Given the description of an element on the screen output the (x, y) to click on. 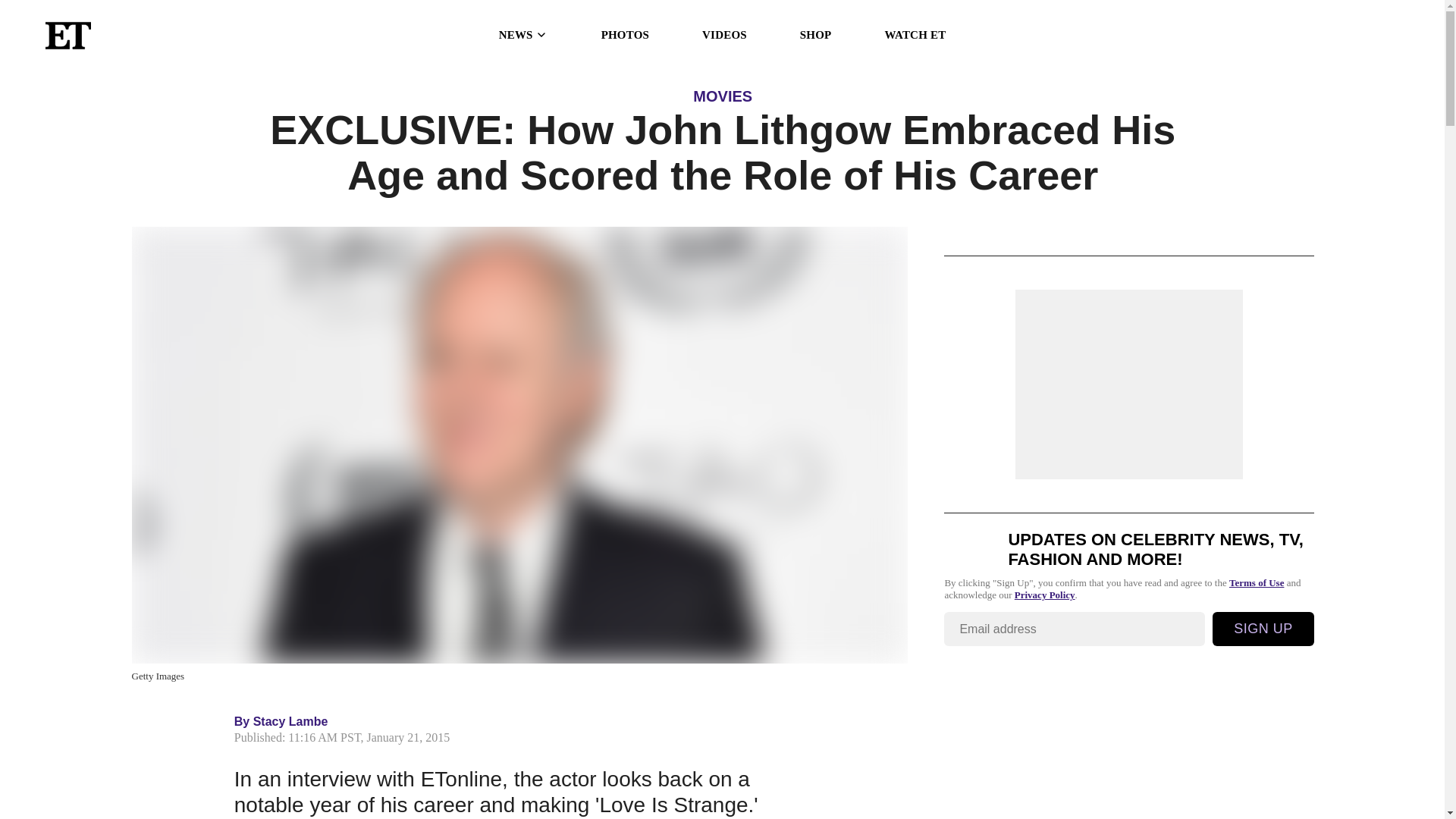
Terms of Use (1256, 582)
Privacy Policy (1044, 594)
MOVIES (722, 95)
WATCH ET (913, 34)
SHOP (815, 34)
NEWS (523, 34)
VIDEOS (723, 34)
PHOTOS (625, 34)
